Given the description of an element on the screen output the (x, y) to click on. 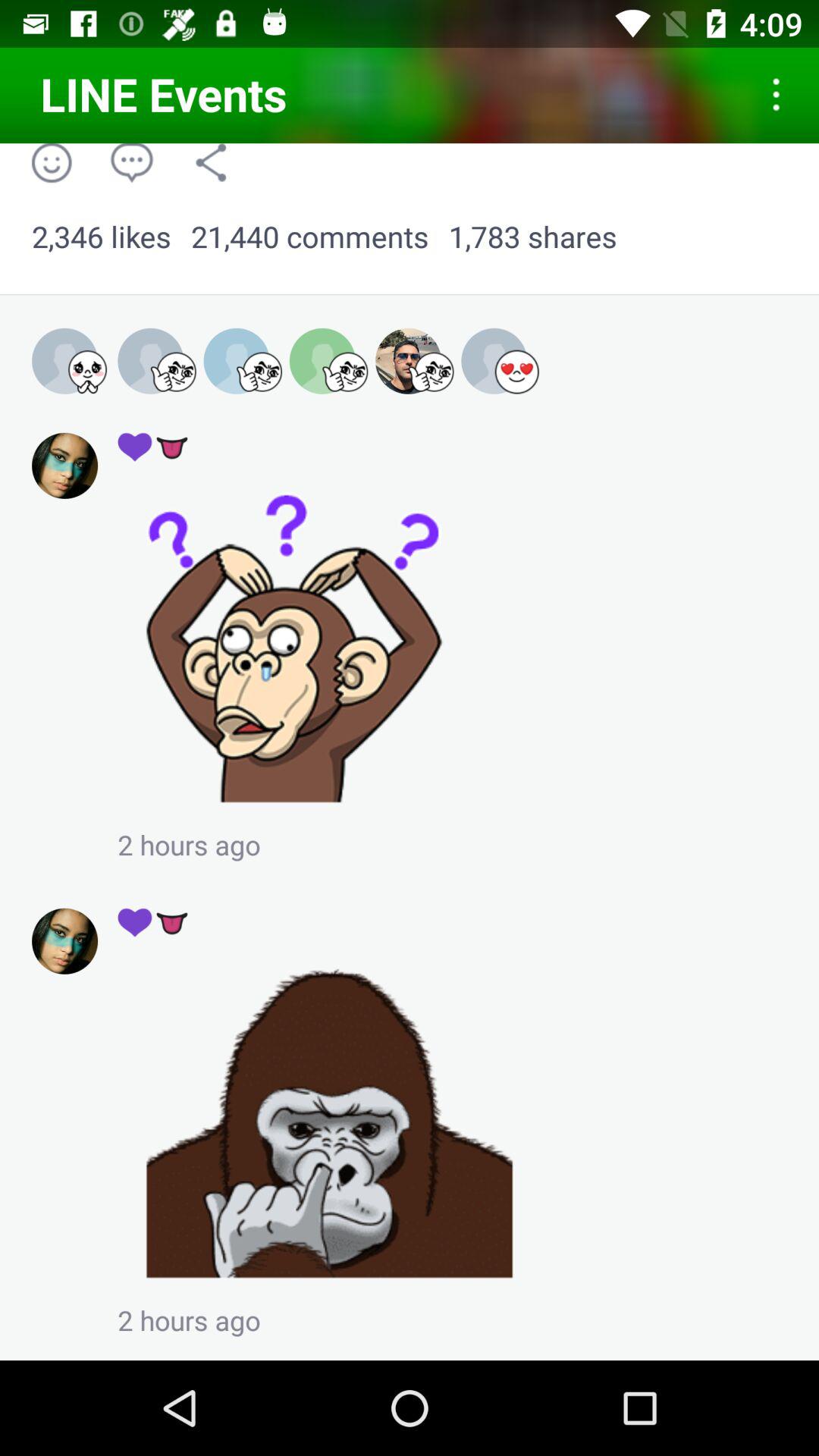
turn off 2,346 likes app (101, 237)
